Given the description of an element on the screen output the (x, y) to click on. 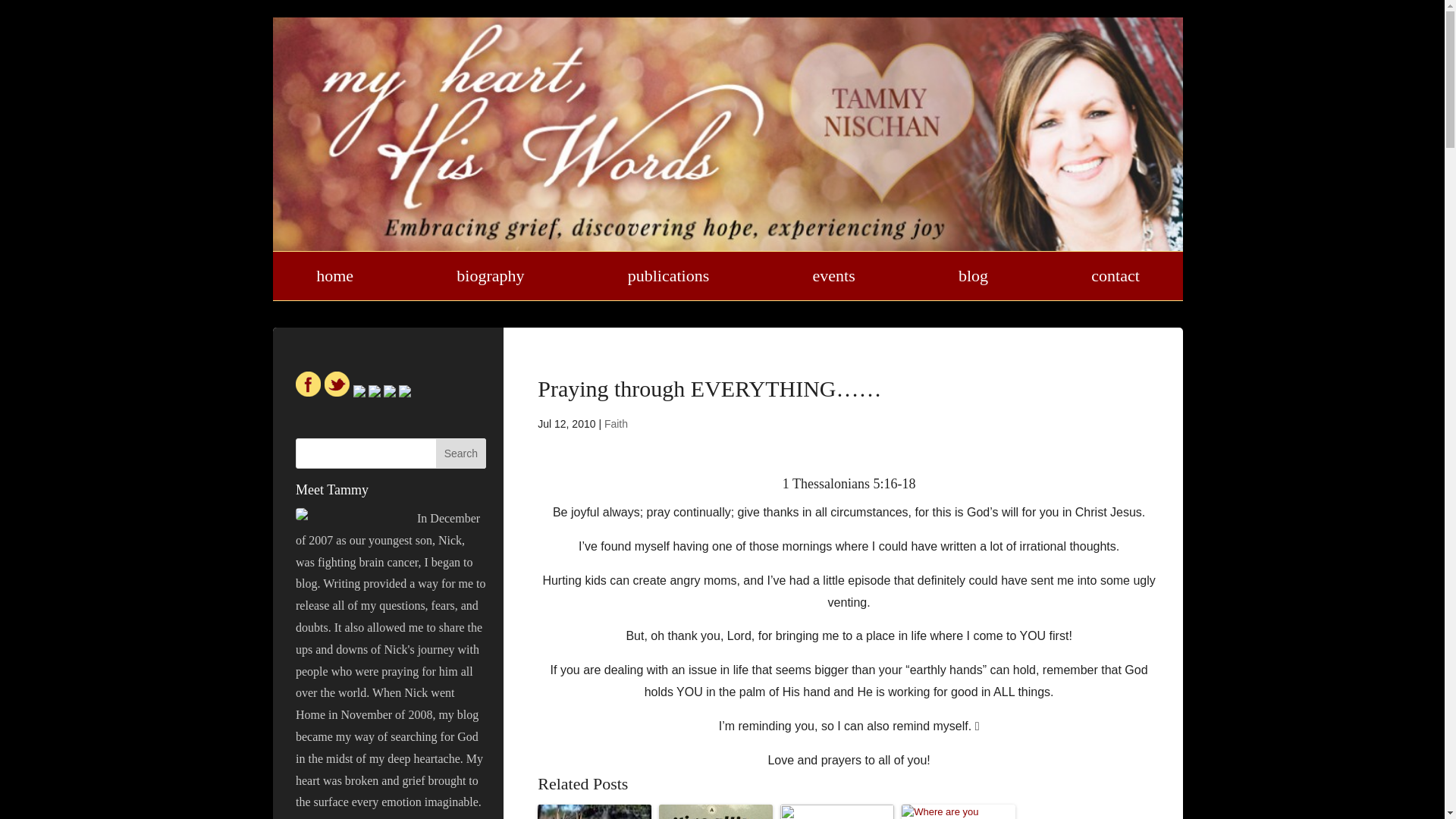
Search (460, 453)
events (833, 275)
contact (1115, 275)
blog (972, 275)
home (334, 275)
biography (490, 275)
Search (460, 453)
Faith (615, 423)
publications (668, 275)
